Given the description of an element on the screen output the (x, y) to click on. 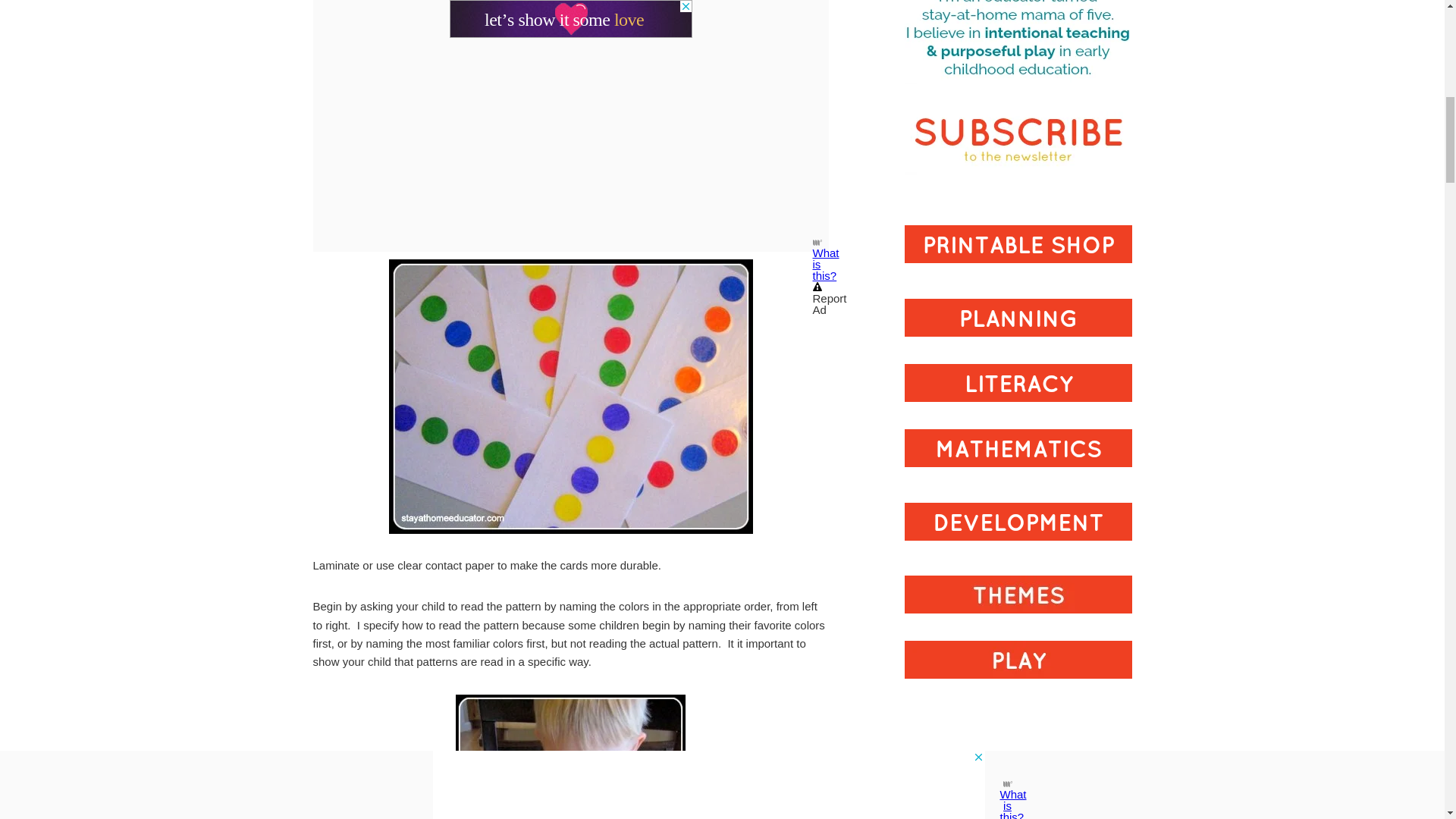
Pattern Cards.2 (570, 756)
3rd party ad content (1017, 764)
Pattern Cards.3 (570, 396)
